Given the description of an element on the screen output the (x, y) to click on. 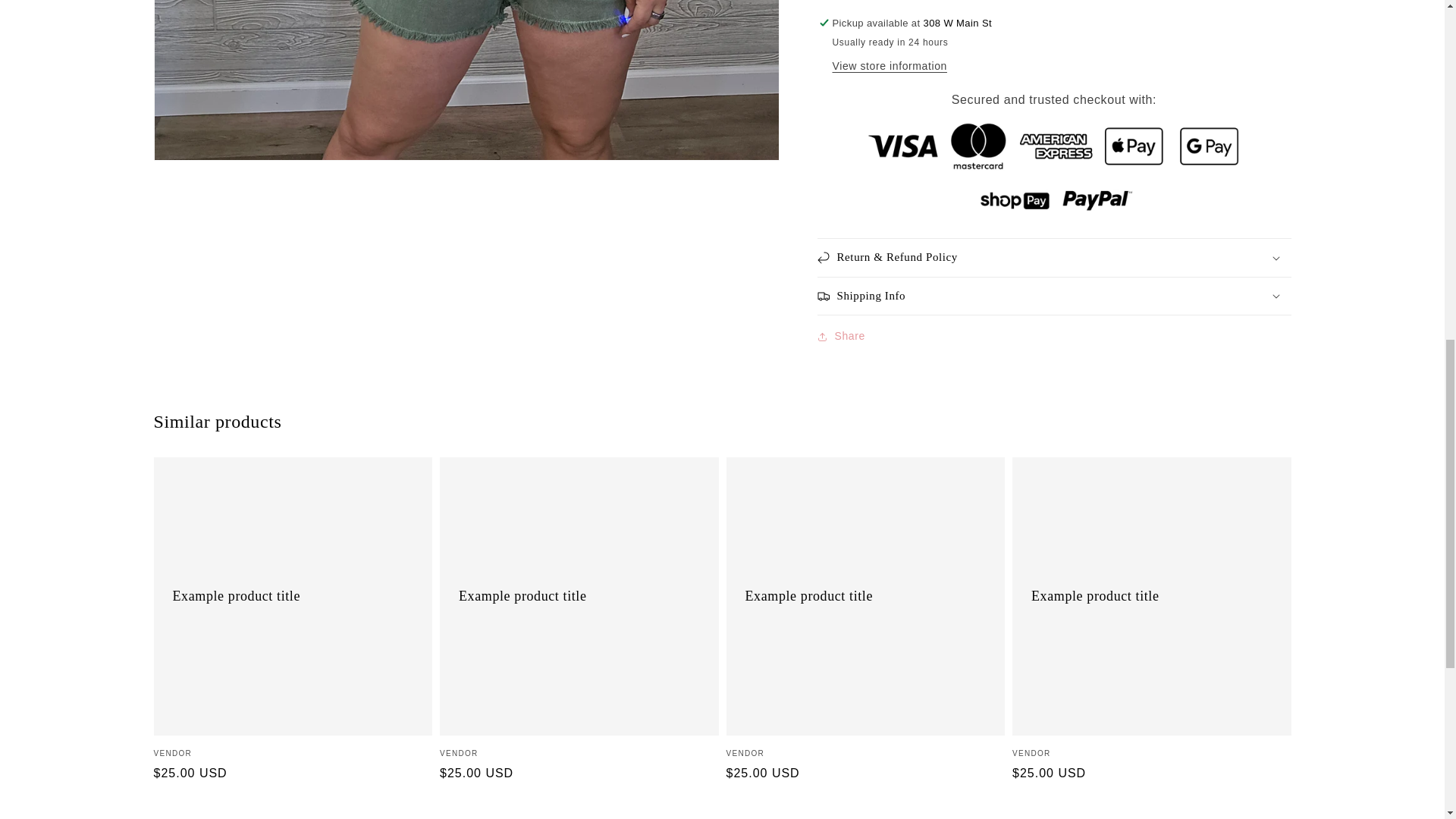
View store information (889, 66)
